Given the description of an element on the screen output the (x, y) to click on. 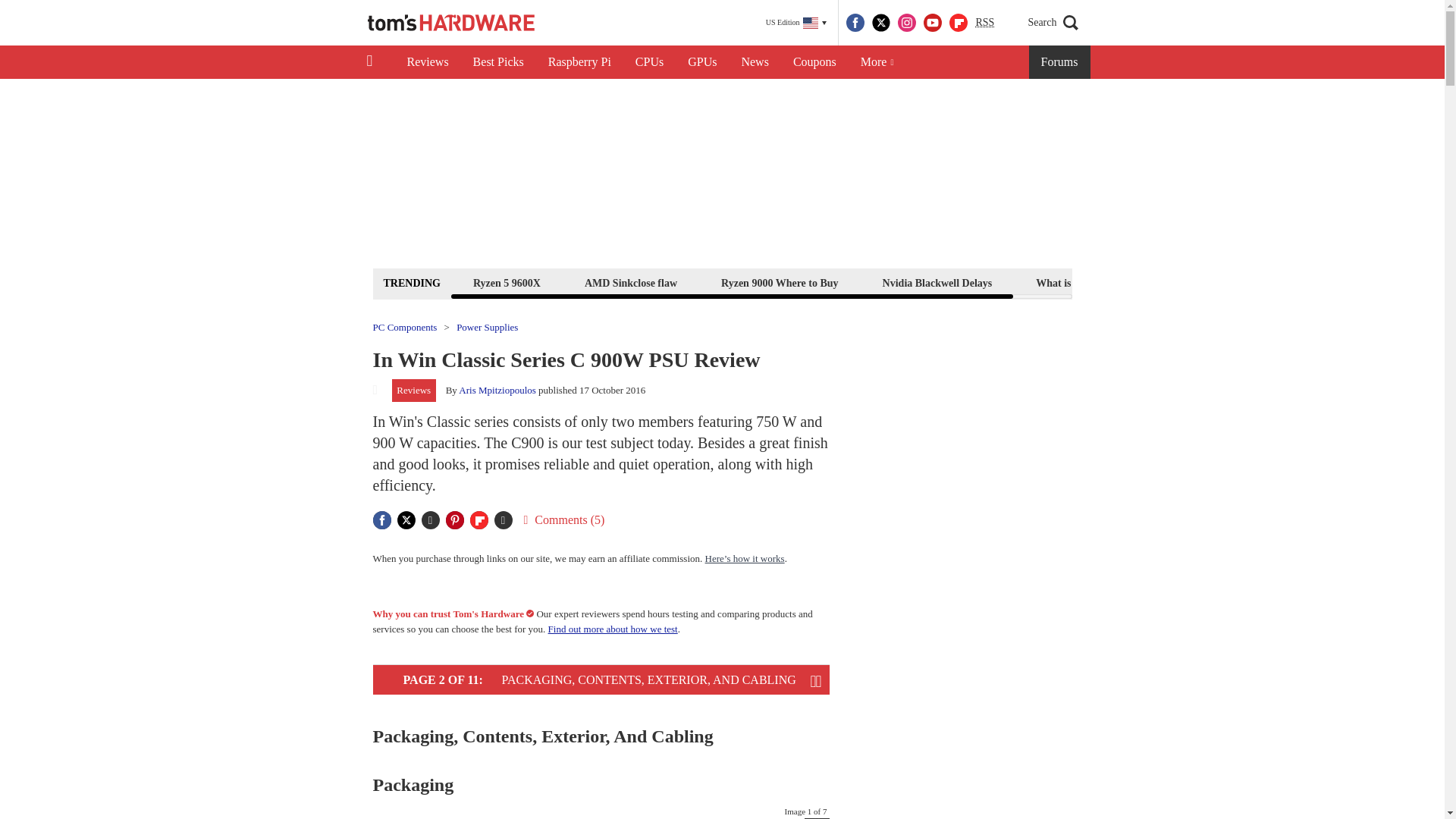
Best Picks (498, 61)
Forums (1059, 61)
Ryzen 5 9600X (506, 282)
Coupons (814, 61)
Reviews (427, 61)
Really Simple Syndication (984, 21)
GPUs (702, 61)
RSS (984, 22)
Raspberry Pi (579, 61)
US Edition (796, 22)
